Given the description of an element on the screen output the (x, y) to click on. 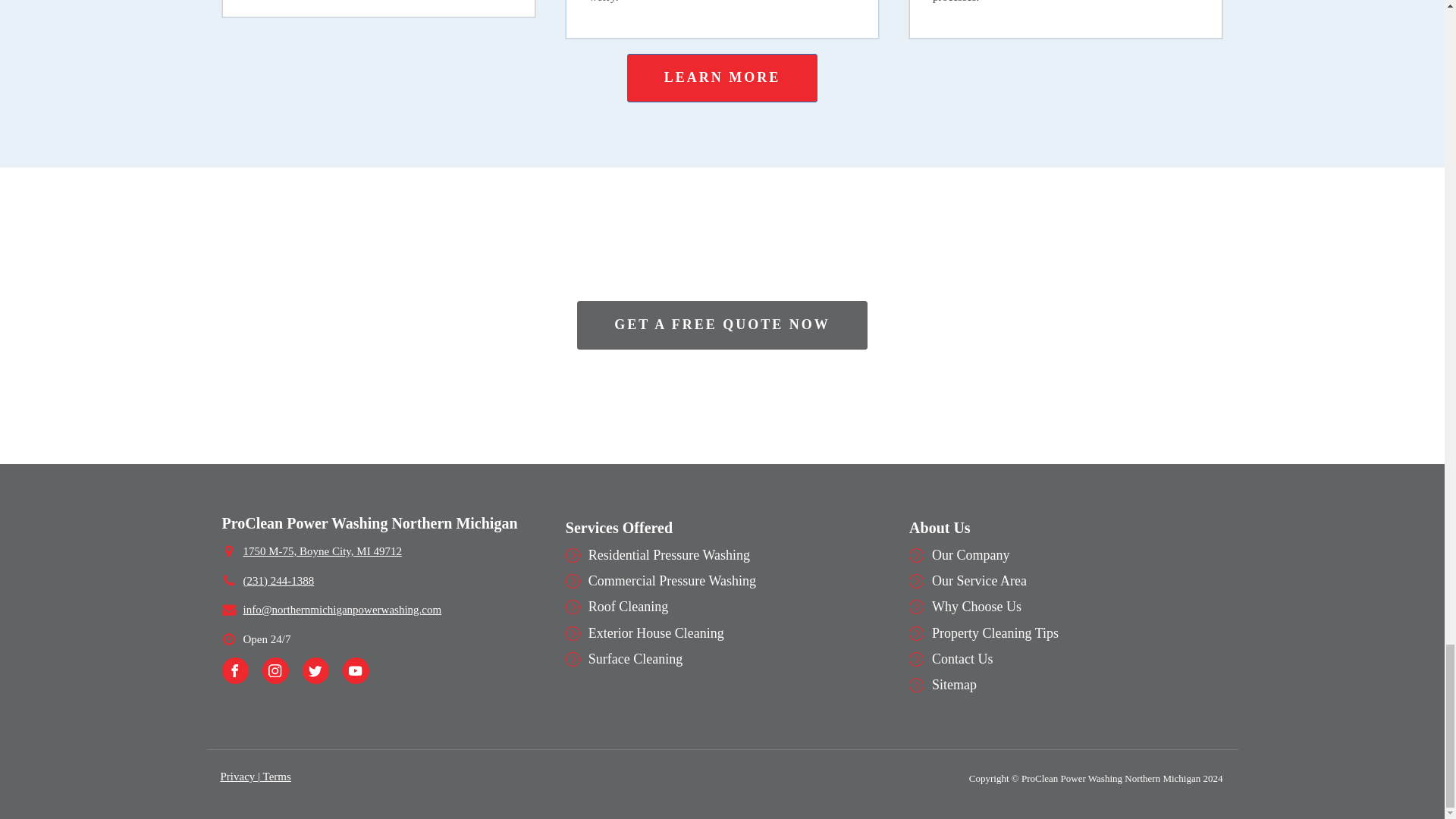
1750 M-75, Boyne City, MI 49712 (322, 551)
Commercial Pressure Washing (671, 580)
Roof Cleaning (628, 606)
GET A FREE QUOTE NOW (721, 325)
LEARN MORE (722, 78)
Exterior House Cleaning (655, 632)
Residential Pressure Washing (668, 555)
Surface Cleaning (635, 658)
Our Company (970, 555)
